Given the description of an element on the screen output the (x, y) to click on. 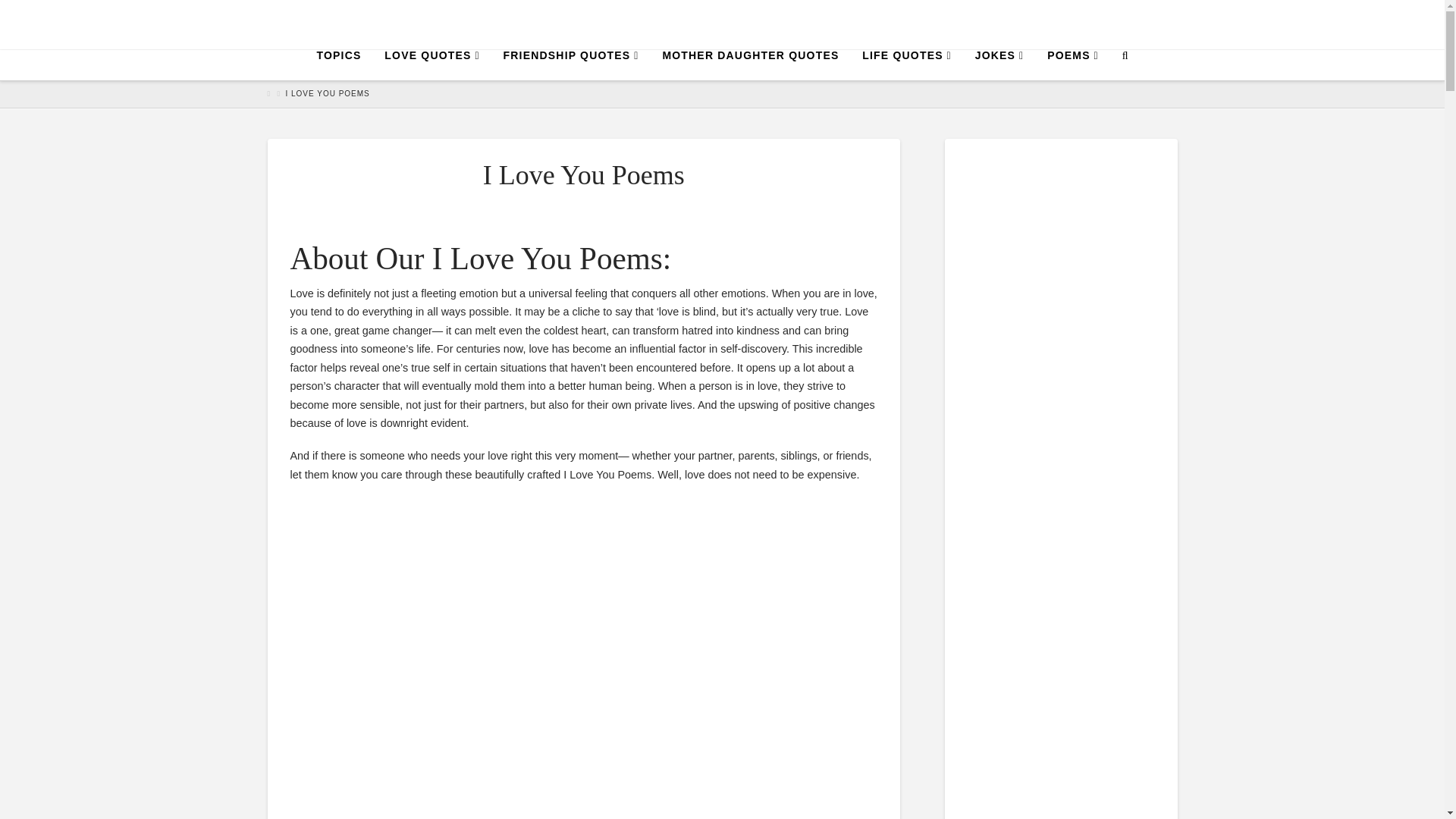
Popular Quotes and Sayings (722, 24)
FRIENDSHIP QUOTES (571, 64)
You Are Here (327, 93)
LIFE QUOTES (906, 64)
LOVE QUOTES (431, 64)
TOPICS (338, 64)
MOTHER DAUGHTER QUOTES (749, 64)
